Given the description of an element on the screen output the (x, y) to click on. 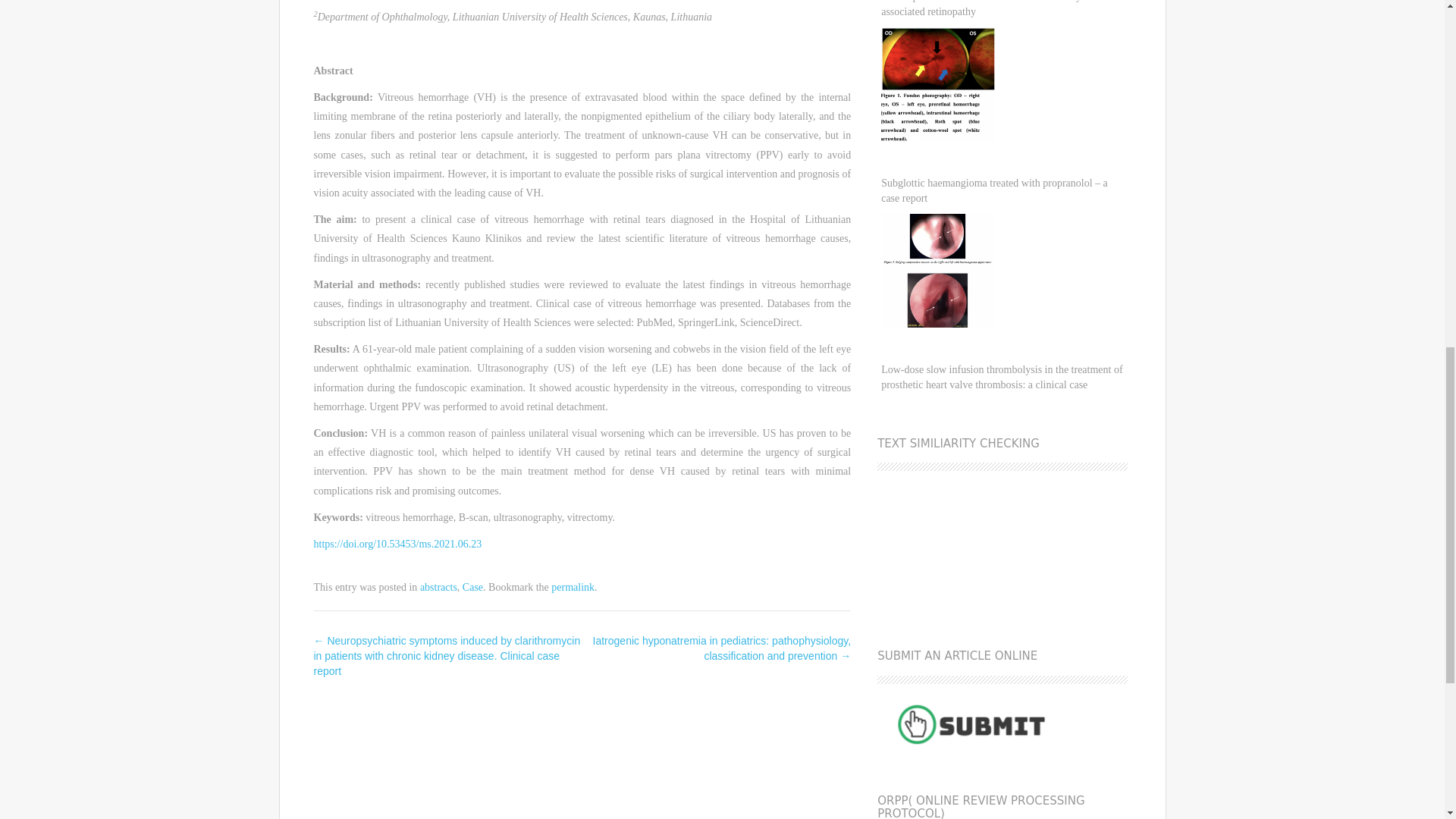
vimeo-player (995, 540)
